Given the description of an element on the screen output the (x, y) to click on. 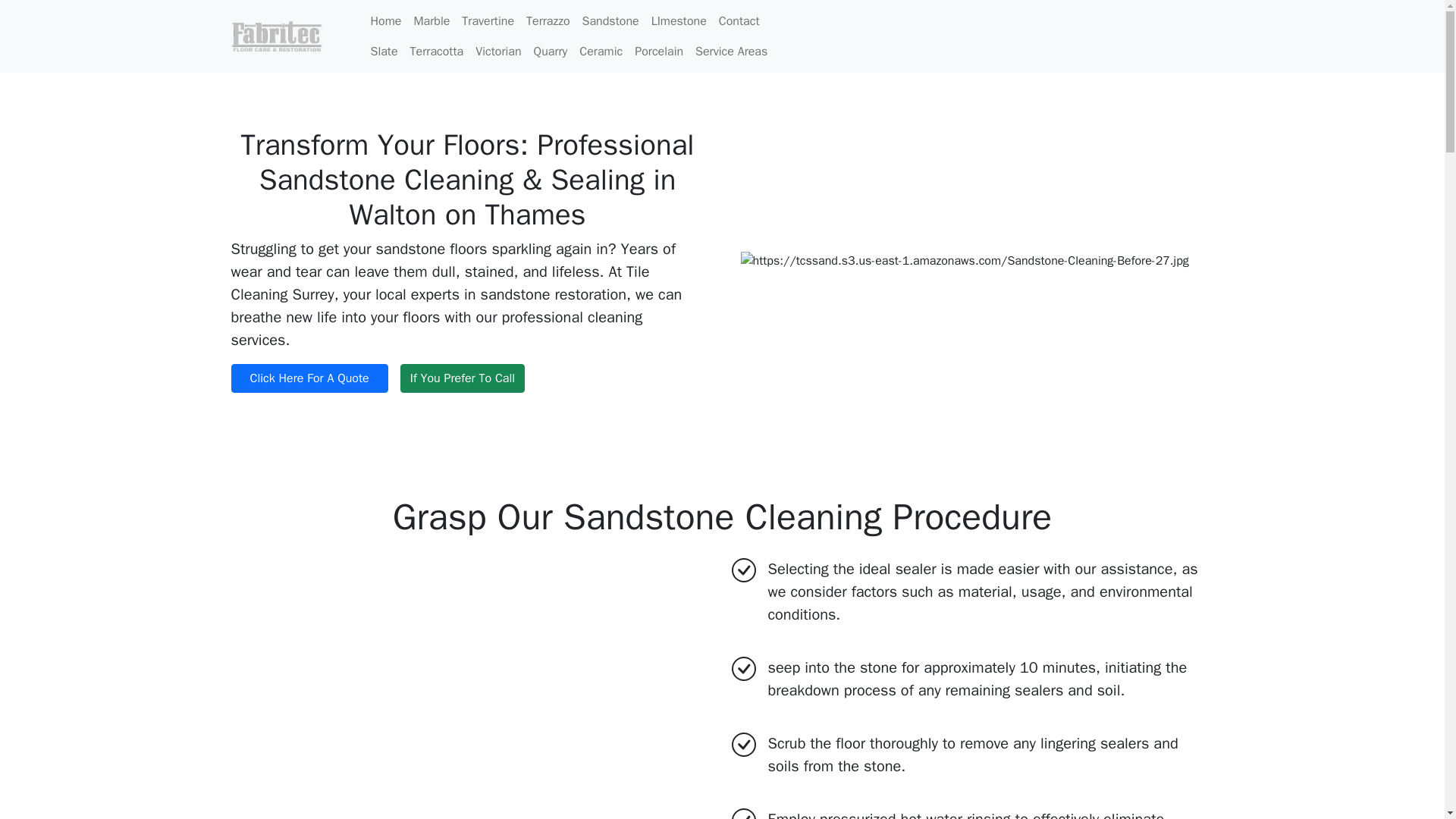
Terracotta (437, 51)
Travertine (487, 20)
Click Here For A Quote (308, 378)
Quarry (550, 51)
Contact (739, 20)
Slate (383, 51)
Service Areas (730, 51)
If You Prefer To Call (462, 378)
Porcelain (658, 51)
